Given the description of an element on the screen output the (x, y) to click on. 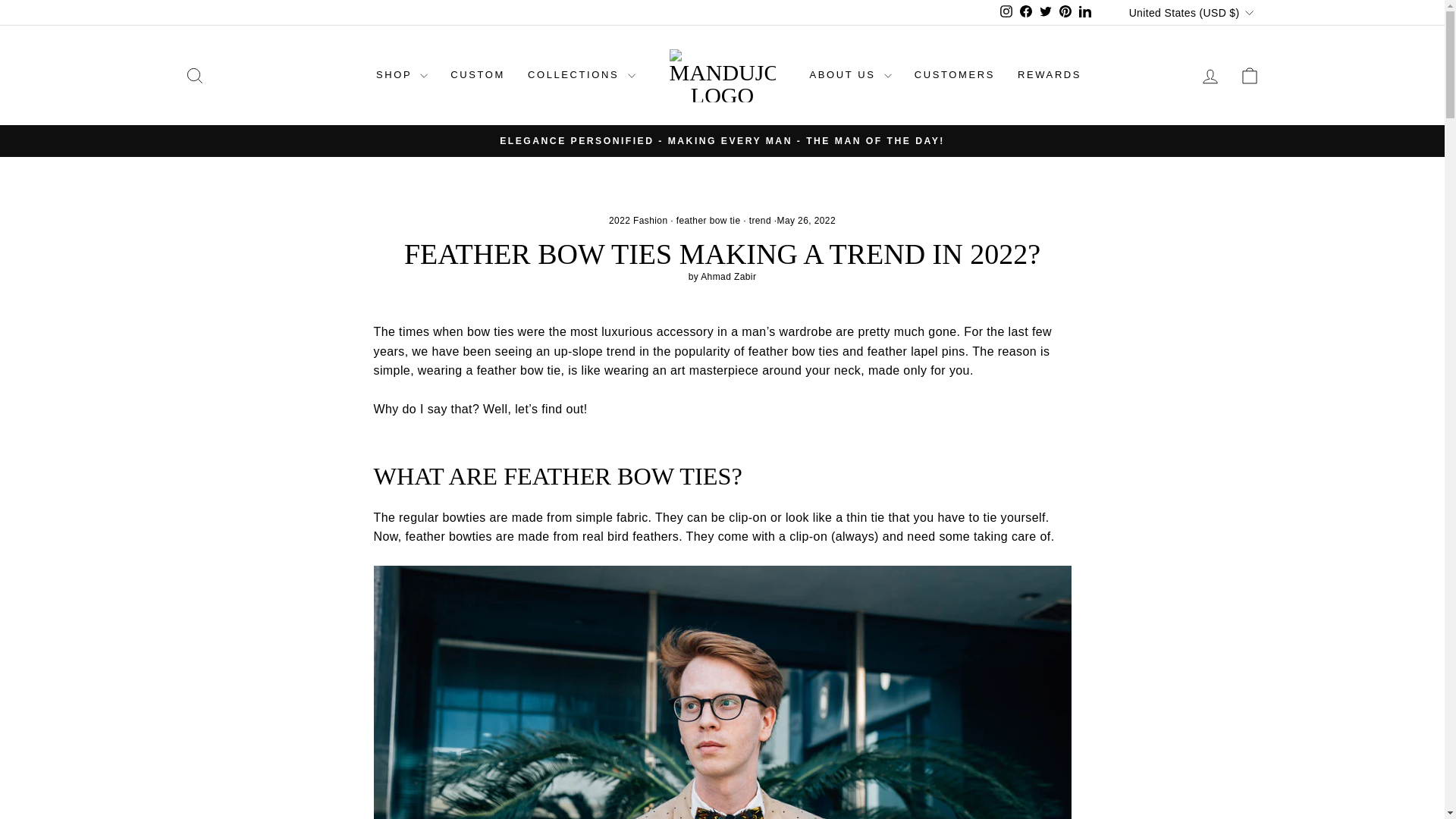
ICON-BAG-MINIMAL (1249, 75)
twitter (1045, 10)
ACCOUNT (1210, 76)
ICON-SEARCH (194, 75)
instagram (1005, 10)
